Given the description of an element on the screen output the (x, y) to click on. 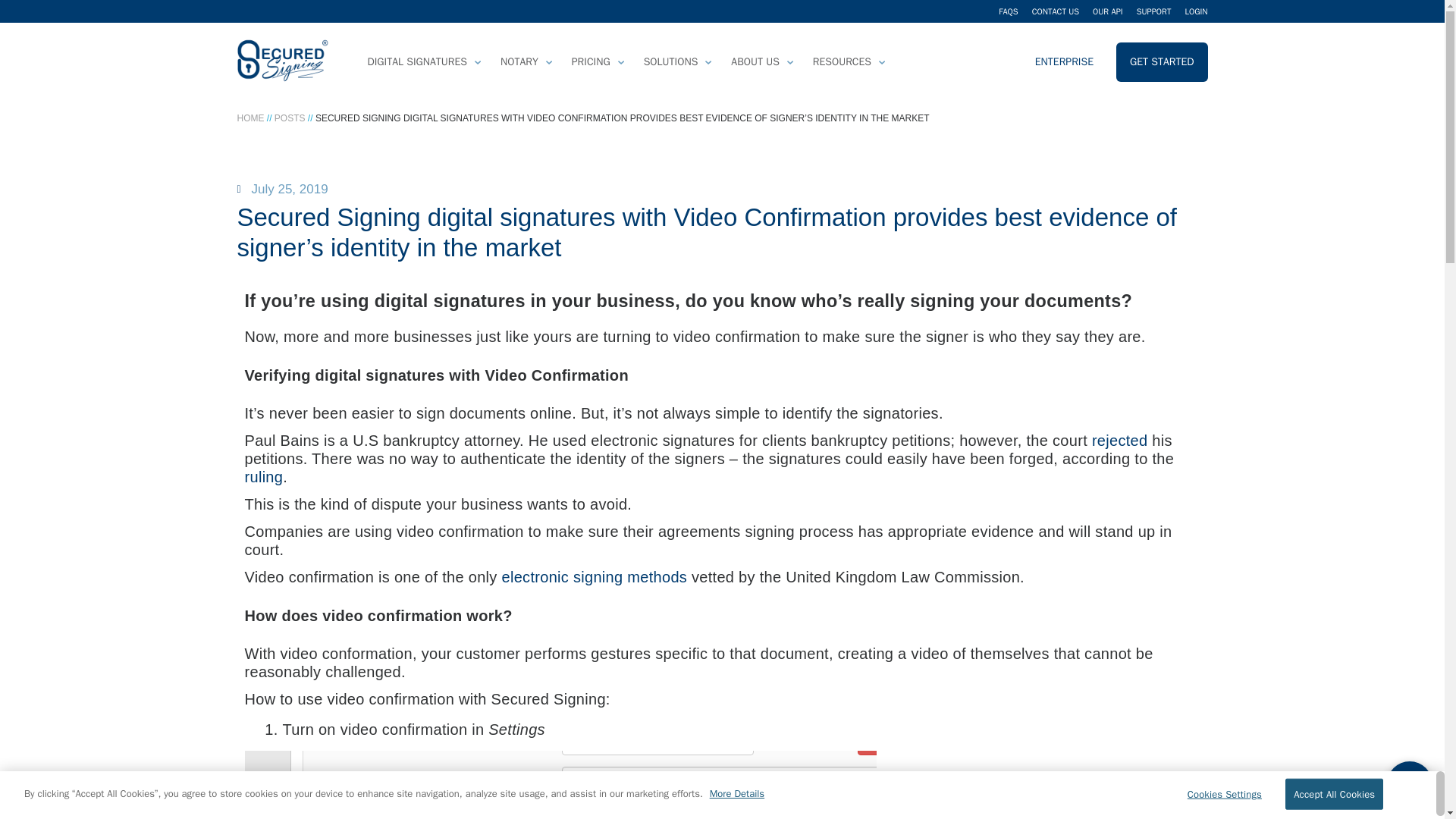
DIGITAL SIGNATURES (422, 61)
Secured Signing (281, 61)
ENTERPRISE (1064, 62)
SUPPORT (1154, 11)
SOLUTIONS (676, 61)
LOGIN (1196, 11)
FAQS (1007, 11)
CONTACT US (1055, 11)
ABOUT US (761, 61)
OUR API (1107, 11)
